Given the description of an element on the screen output the (x, y) to click on. 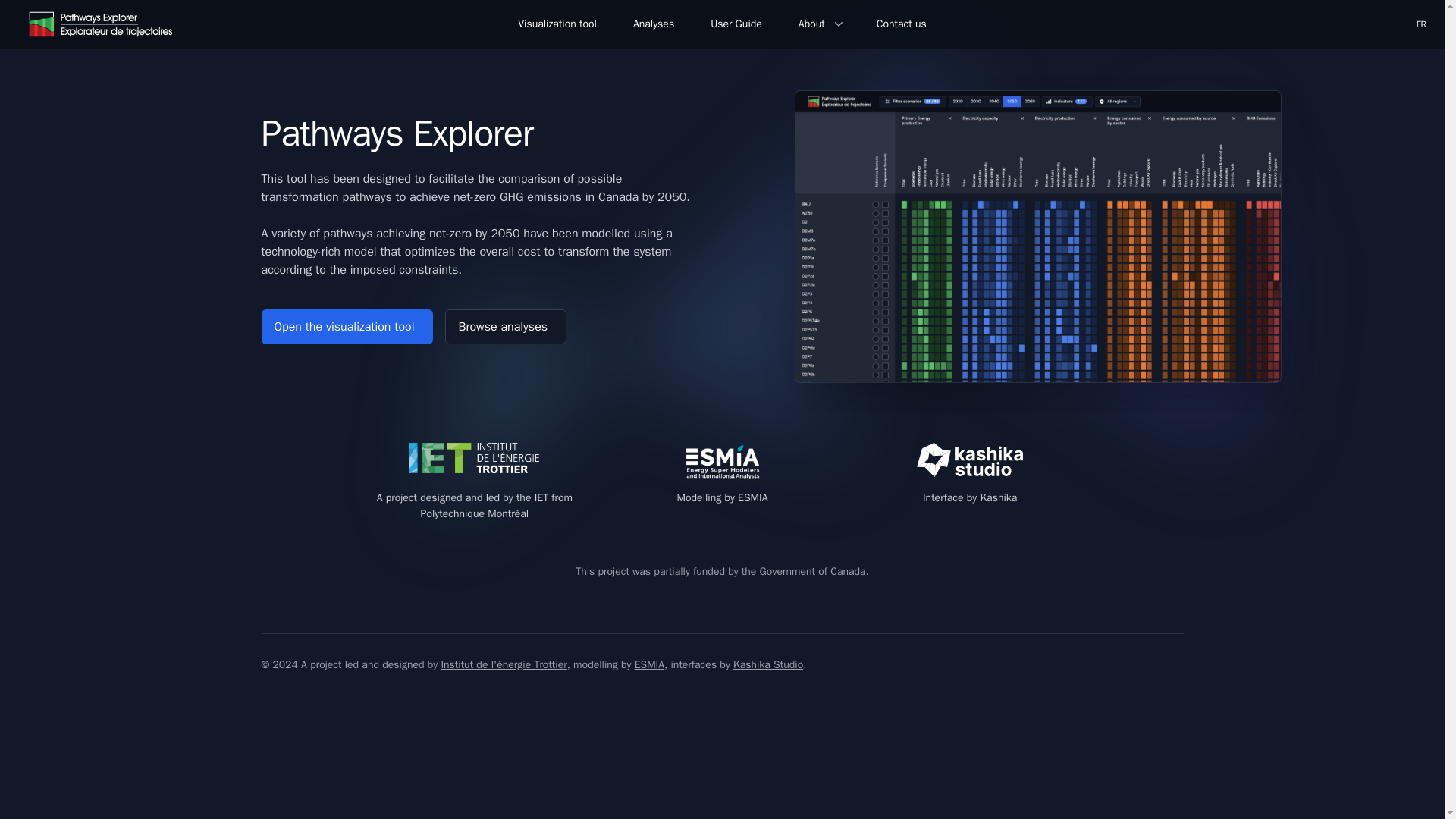
Interface by Kashika (969, 488)
FR (1421, 24)
Modelling by ESMIA (721, 488)
Open the visualization tool (346, 326)
User Guide (735, 24)
Visualization tool (557, 24)
Browse analyses (505, 326)
Analyses (653, 24)
ESMIA (648, 664)
Pathways Explorer (100, 24)
Contact us (901, 24)
About (818, 24)
Kashika Studio (768, 664)
